Given the description of an element on the screen output the (x, y) to click on. 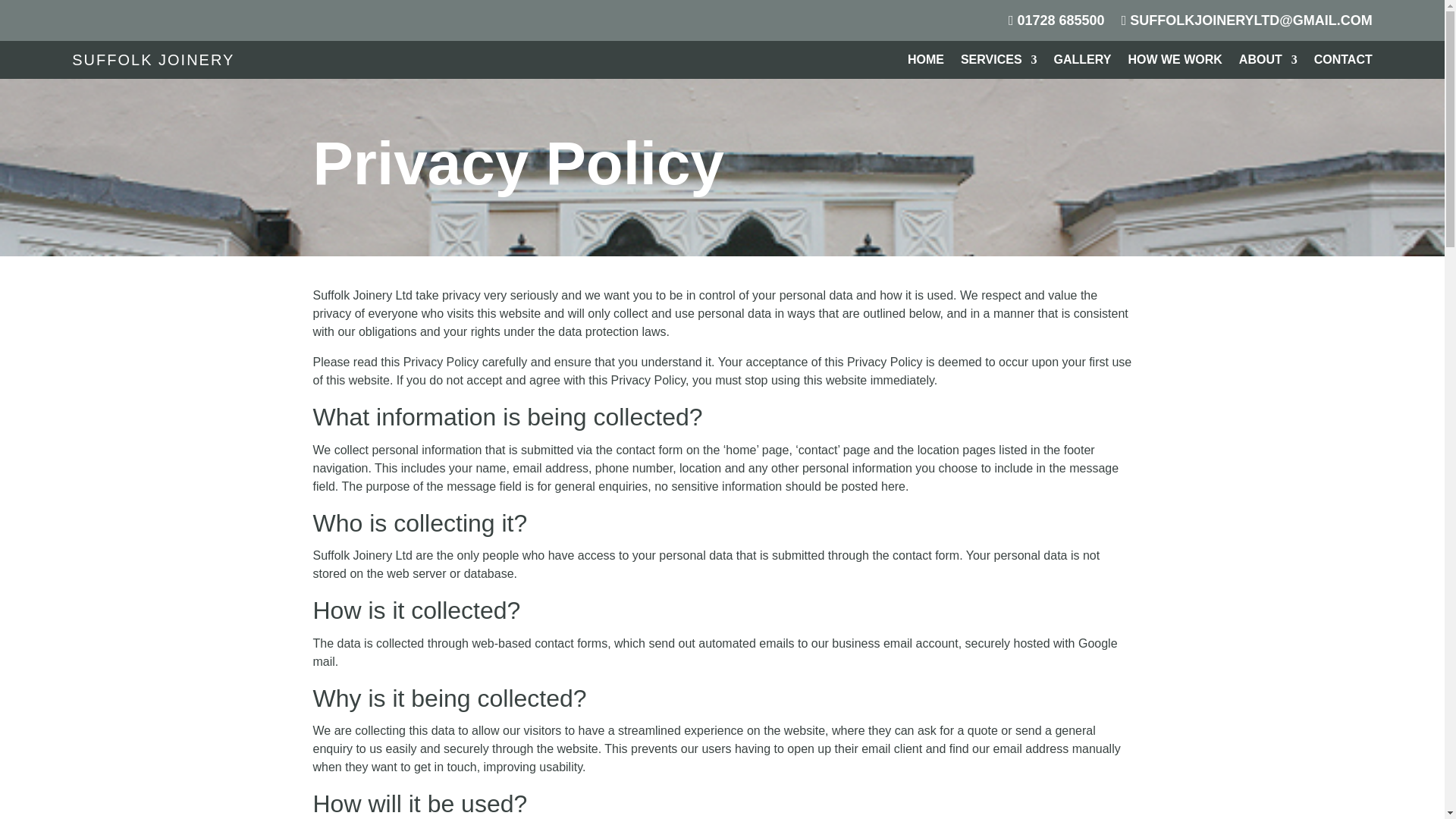
ABOUT (1268, 62)
01728 685500 (1057, 23)
CONTACT (1343, 62)
HOW WE WORK (1173, 62)
HOME (925, 62)
SERVICES (998, 62)
GALLERY (1083, 62)
